Given the description of an element on the screen output the (x, y) to click on. 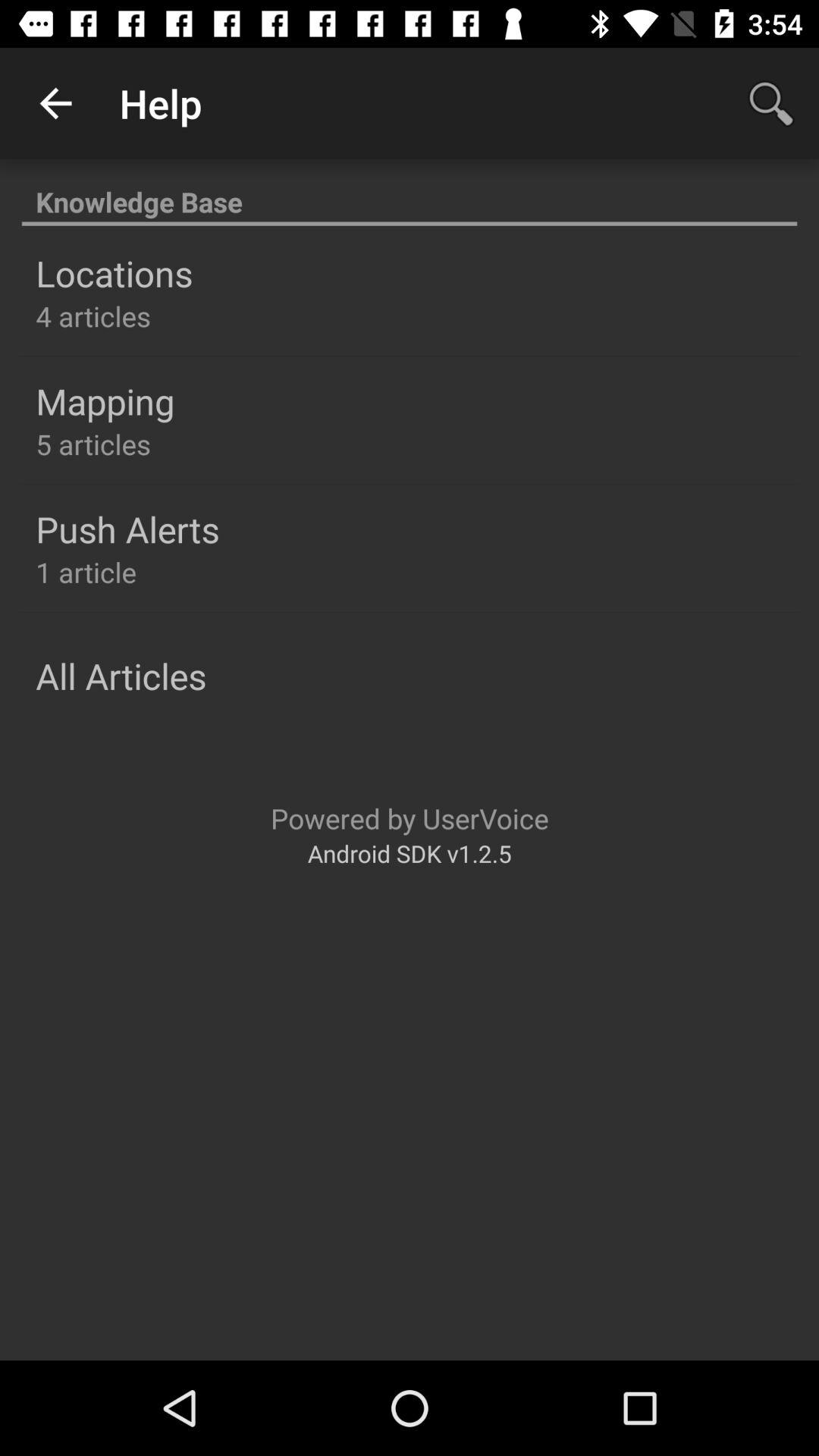
tap knowledge base (409, 193)
